Given the description of an element on the screen output the (x, y) to click on. 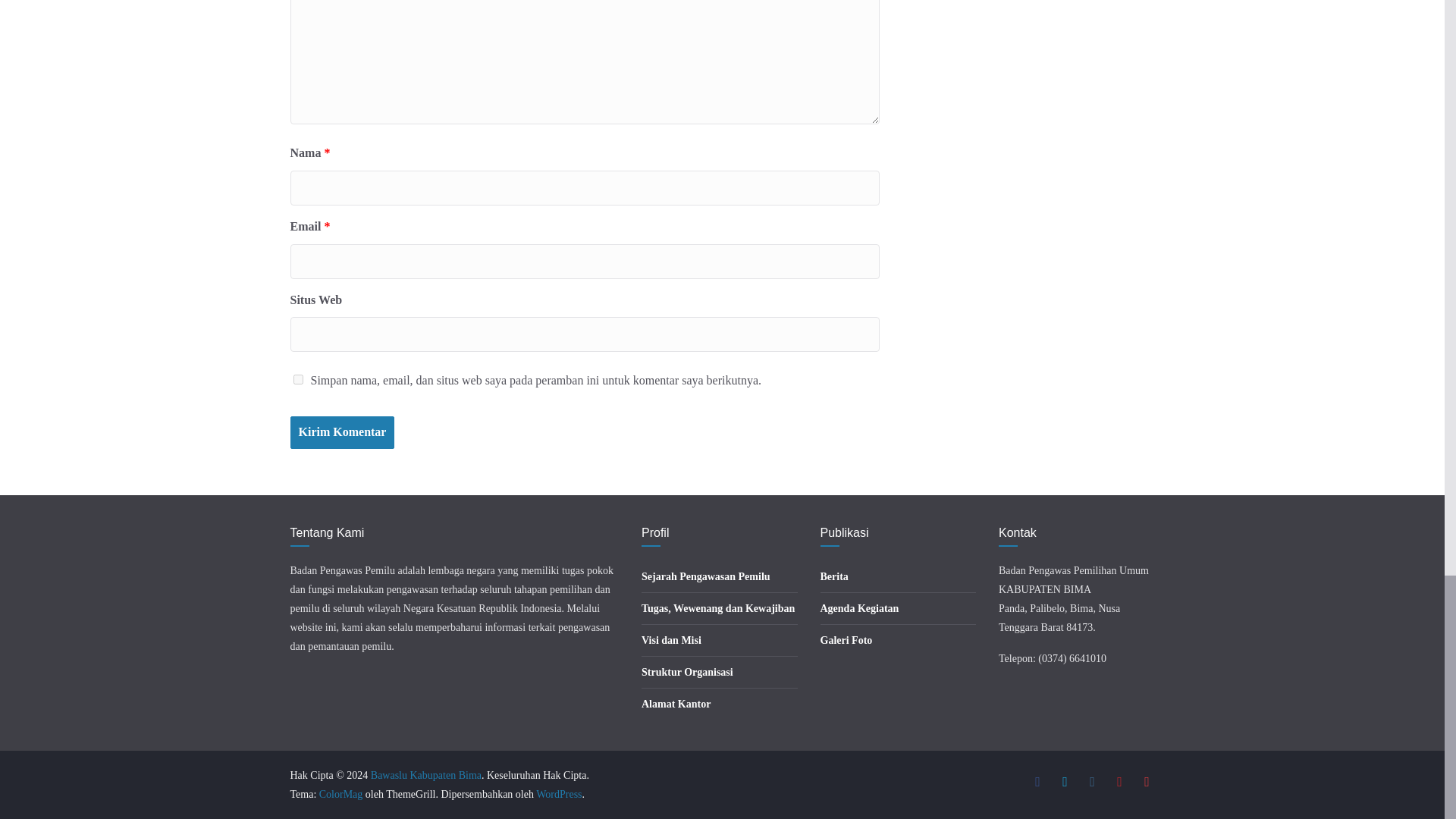
yes (297, 379)
Kirim Komentar (341, 432)
